Given the description of an element on the screen output the (x, y) to click on. 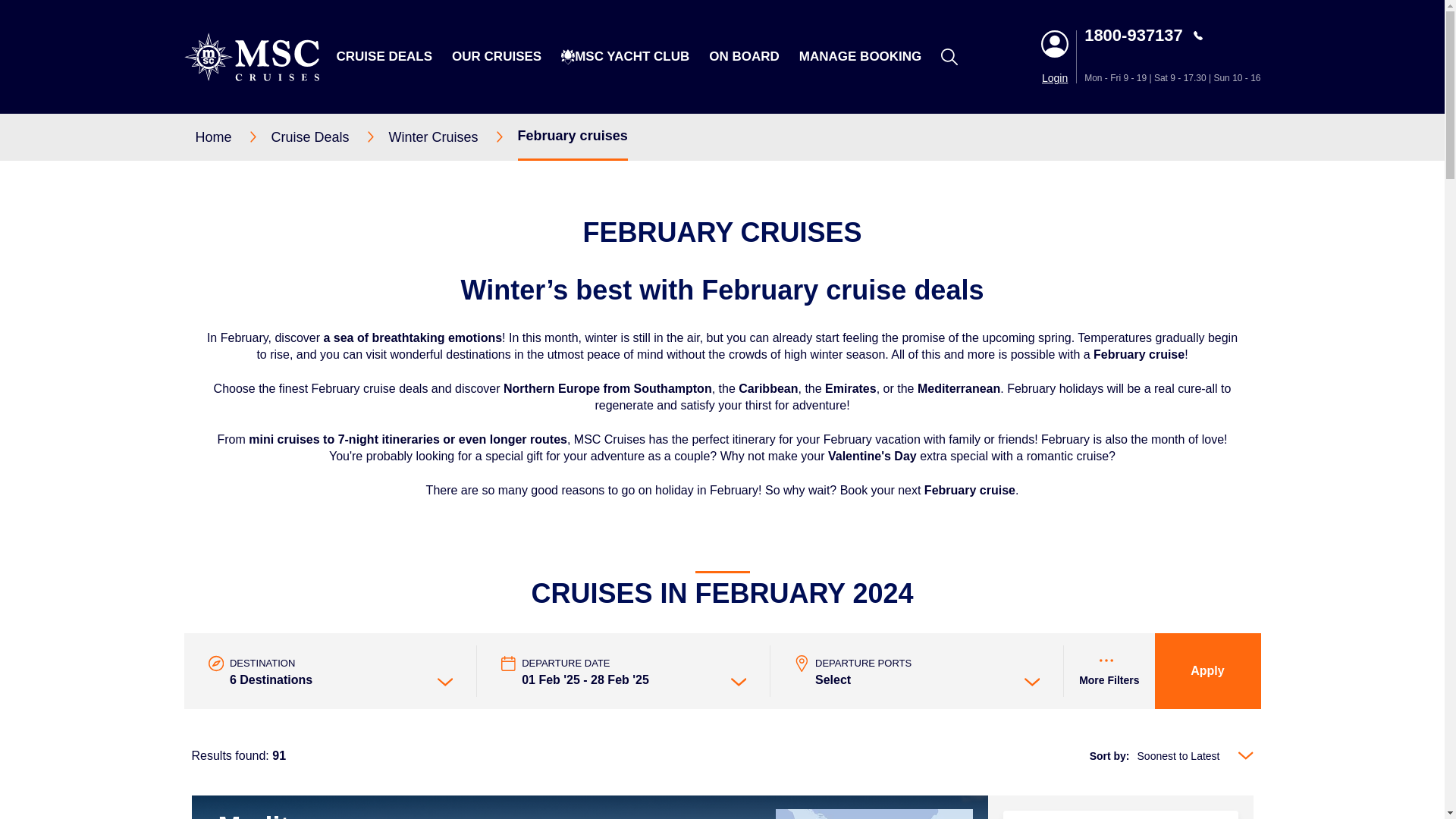
1800-937137 (1172, 35)
Winter Cruises (453, 136)
Login (1054, 77)
Search (1071, 155)
Home (232, 136)
OUR CRUISES (496, 56)
msc cruises logo (250, 56)
Cruise Deals (329, 136)
MSC YACHT CLUB (631, 56)
ON BOARD (743, 56)
MANAGE BOOKING (860, 56)
CRUISE DEALS (384, 56)
